Given the description of an element on the screen output the (x, y) to click on. 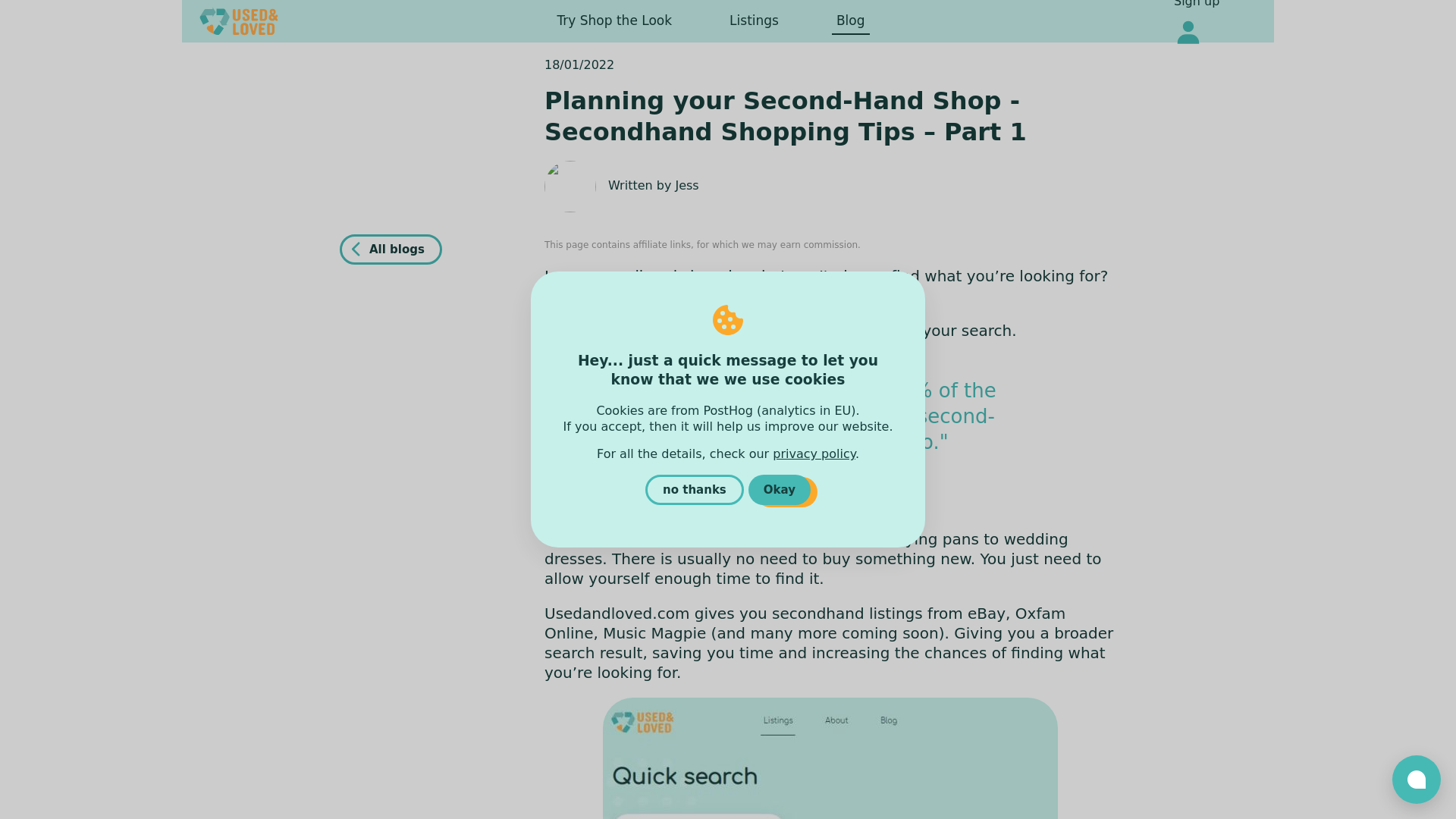
Listings (754, 21)
Sign up (1196, 6)
Try Shop the Look (614, 21)
Blog (850, 21)
Used and Loved (242, 20)
no thanks (694, 490)
privacy policy (814, 453)
All blogs (390, 249)
WRAP (643, 482)
